Given the description of an element on the screen output the (x, y) to click on. 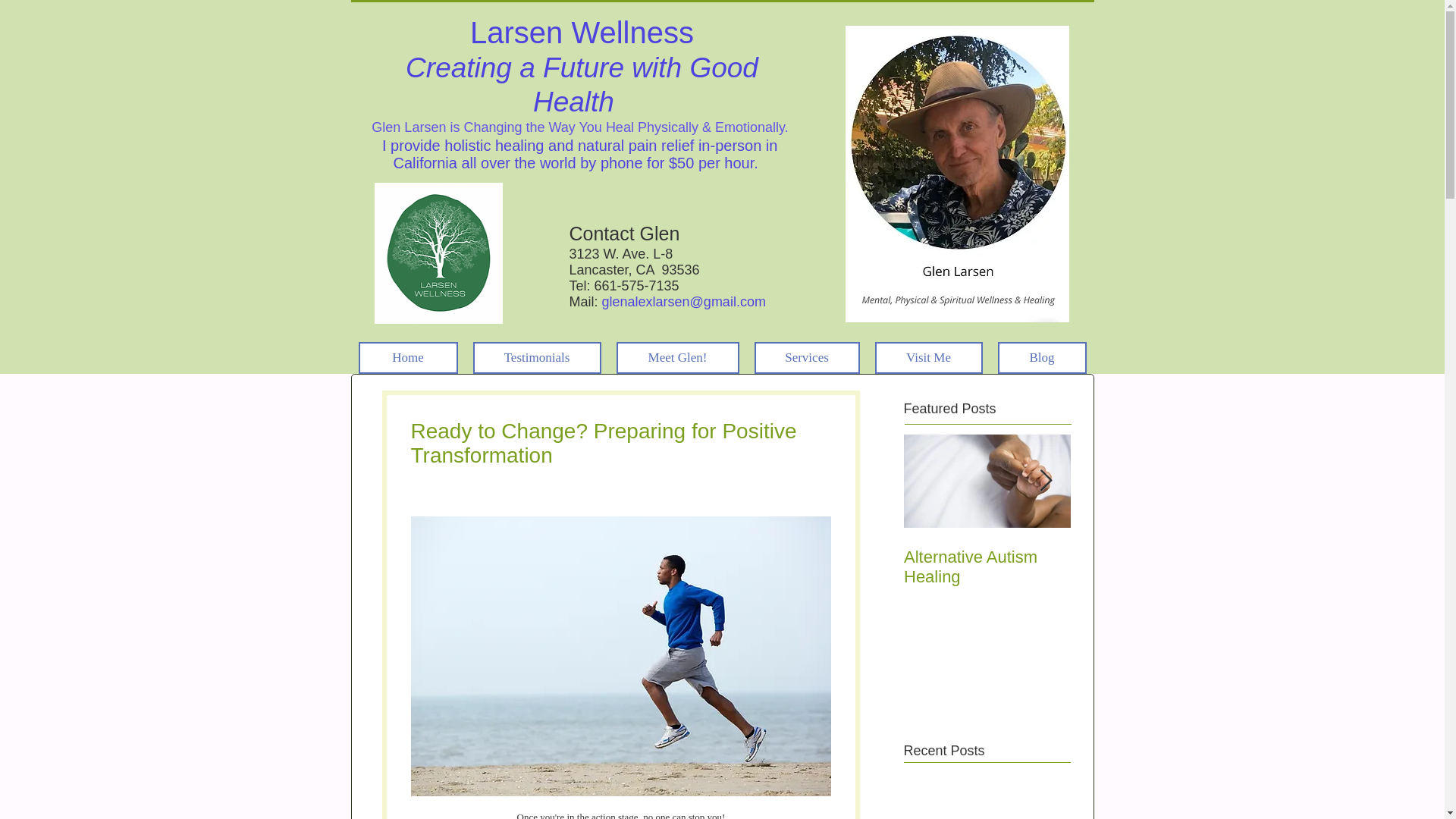
Visit Me (928, 357)
Alternative Autism Healing (987, 567)
Antibacterial Aromatherapy Essential Oils (1153, 576)
Meet Glen! (676, 357)
Blog (1041, 357)
Services (806, 357)
Home (407, 357)
Testimonials (537, 357)
